Given the description of an element on the screen output the (x, y) to click on. 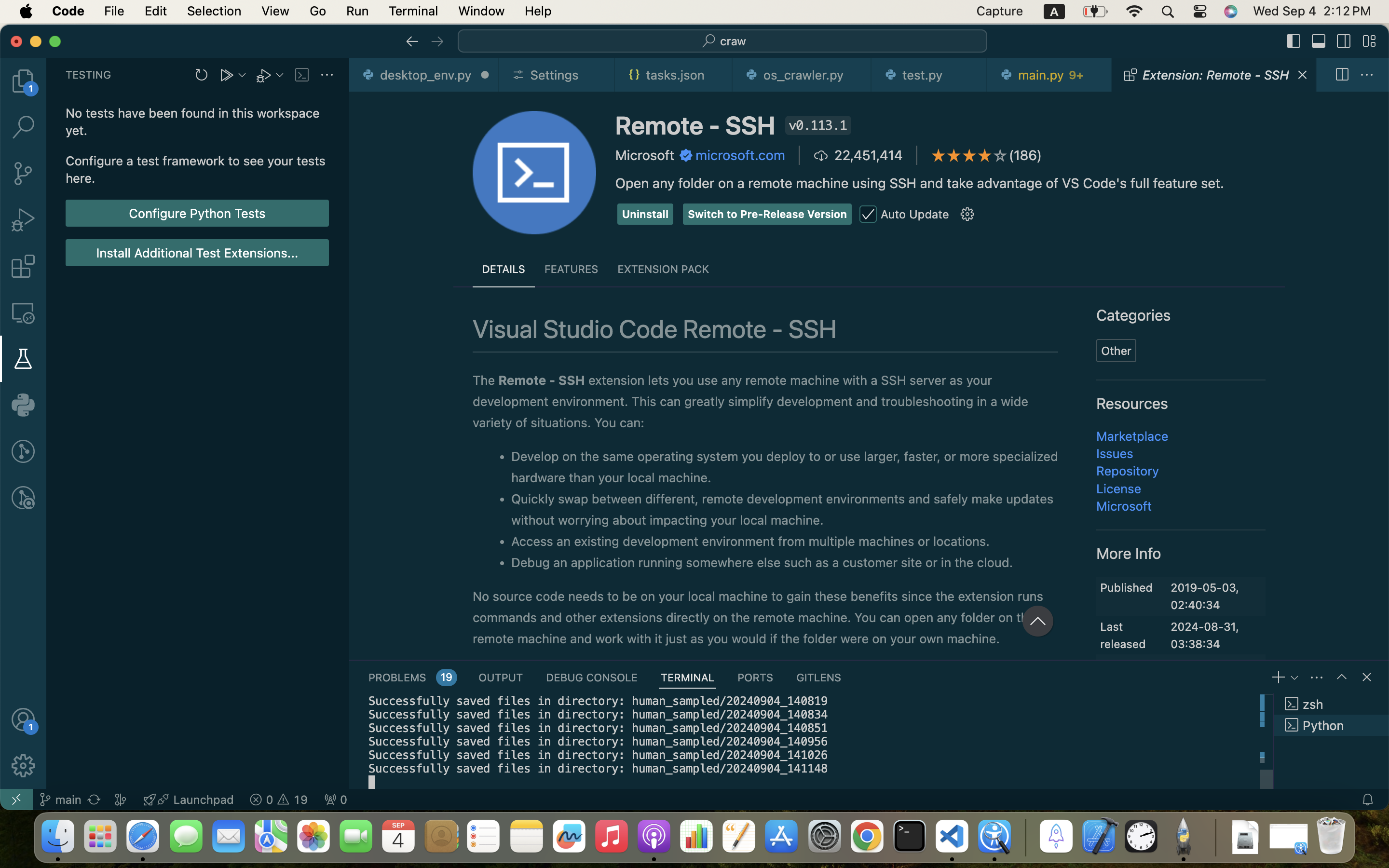
 Element type: AXButton (412, 41)
 0 Element type: AXButton (335, 799)
 Element type: AXCheckBox (867, 214)
 Element type: AXButton (1366, 676)
Resources Element type: AXStaticText (1132, 403)
